Given the description of an element on the screen output the (x, y) to click on. 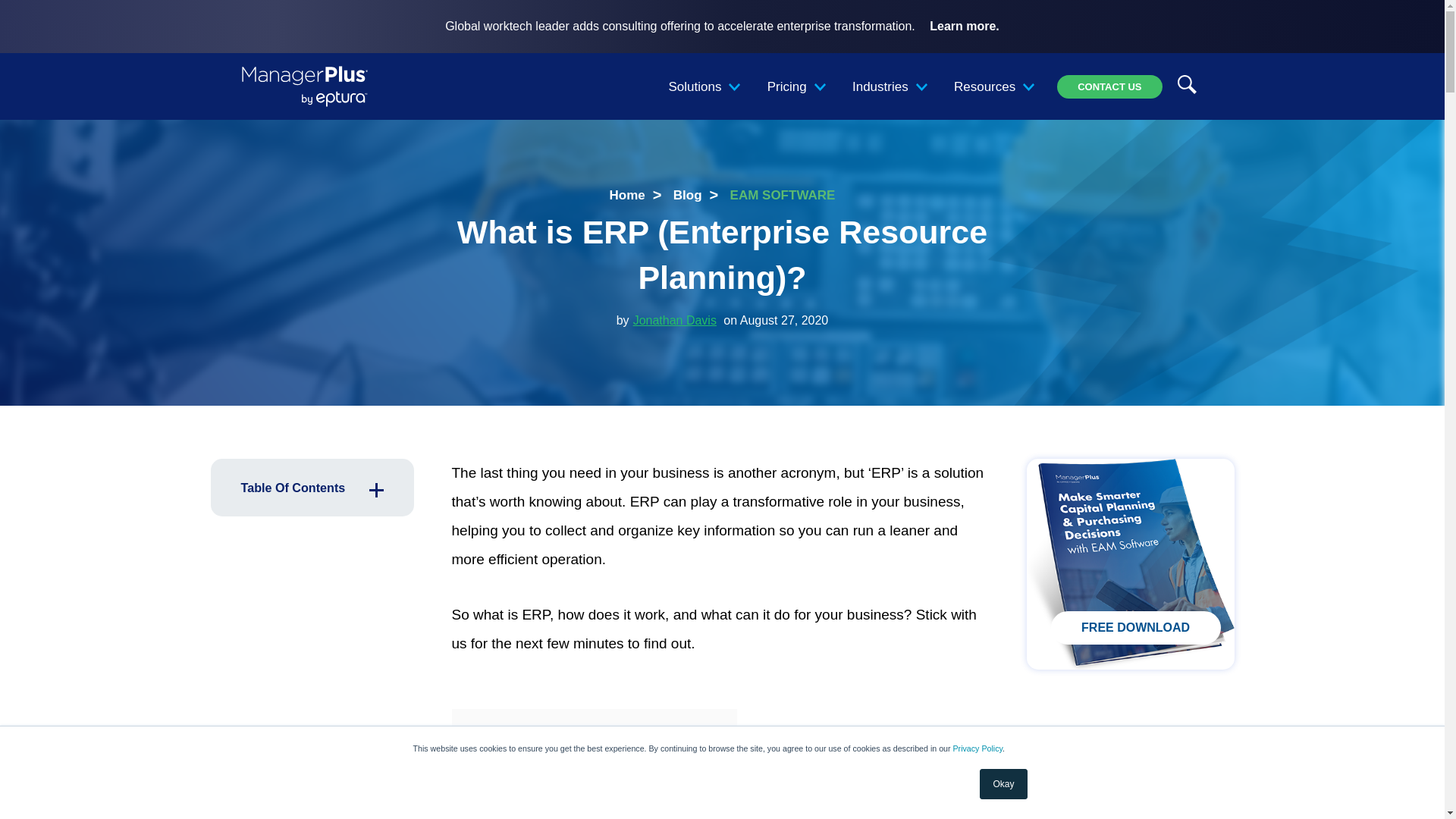
Privacy Policy (978, 747)
Industries (885, 86)
Learn more. (964, 26)
Okay (1002, 784)
FREE DOWNLOAD (1136, 627)
Resources (989, 86)
Solutions (701, 86)
Pricing (792, 86)
